Given the description of an element on the screen output the (x, y) to click on. 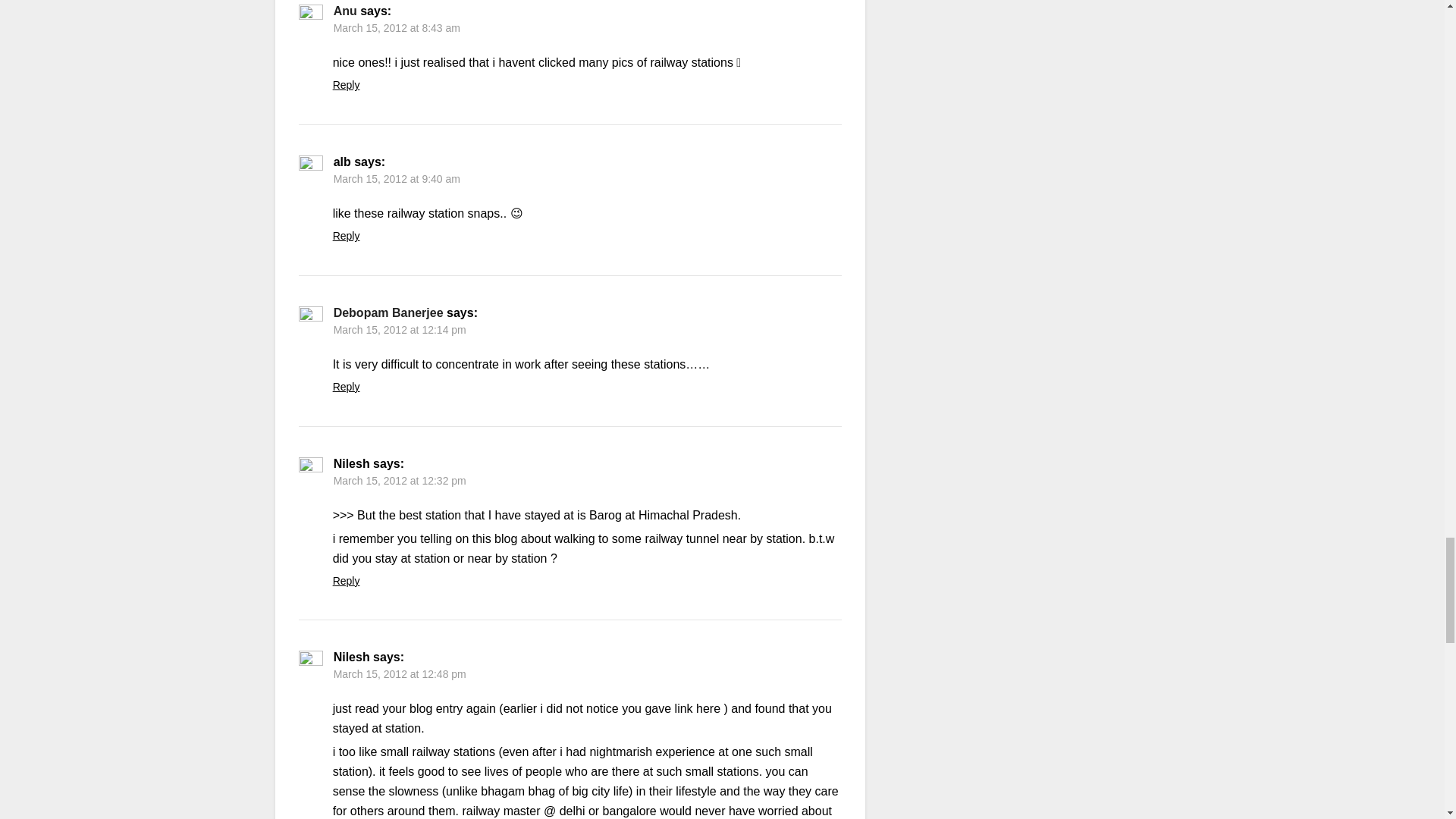
Reply (346, 235)
March 15, 2012 at 9:40 am (396, 178)
March 15, 2012 at 12:14 pm (399, 329)
March 15, 2012 at 12:48 pm (399, 674)
March 15, 2012 at 12:32 pm (399, 480)
March 15, 2012 at 8:43 am (396, 28)
Reply (346, 84)
Anu (344, 10)
Reply (346, 386)
Reply (346, 580)
